Given the description of an element on the screen output the (x, y) to click on. 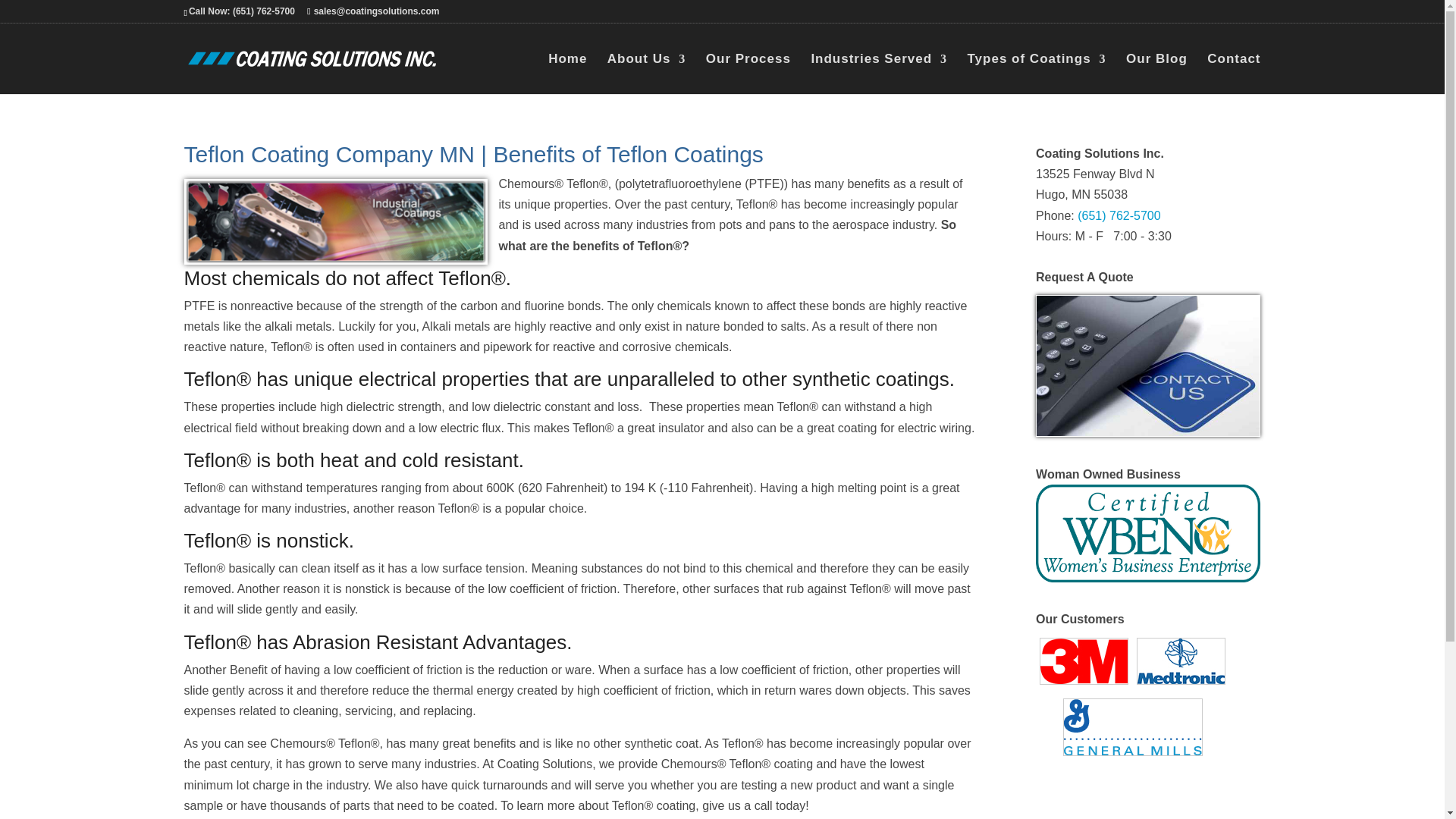
Home (567, 73)
Our Blog (1156, 73)
Contact (1233, 73)
Industries Served (878, 73)
Types of Coatings (1037, 73)
About Us (646, 73)
Our Process (748, 73)
